Given the description of an element on the screen output the (x, y) to click on. 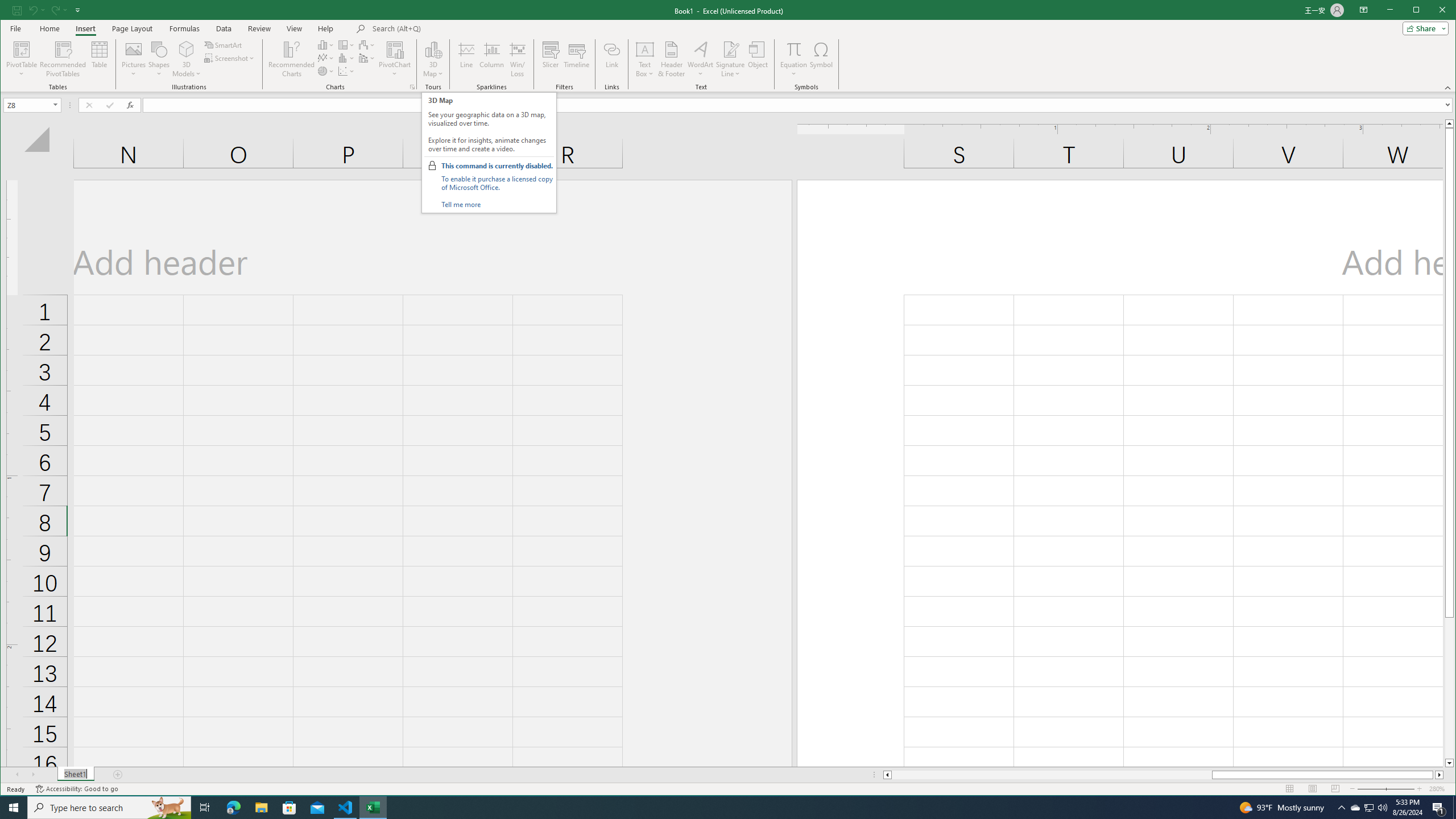
Start (13, 807)
Insert Combo Chart (366, 57)
Insert Statistic Chart (346, 57)
Symbol... (821, 59)
Running applications (717, 807)
SmartArt... (224, 44)
Insert Hierarchy Chart (346, 44)
